Given the description of an element on the screen output the (x, y) to click on. 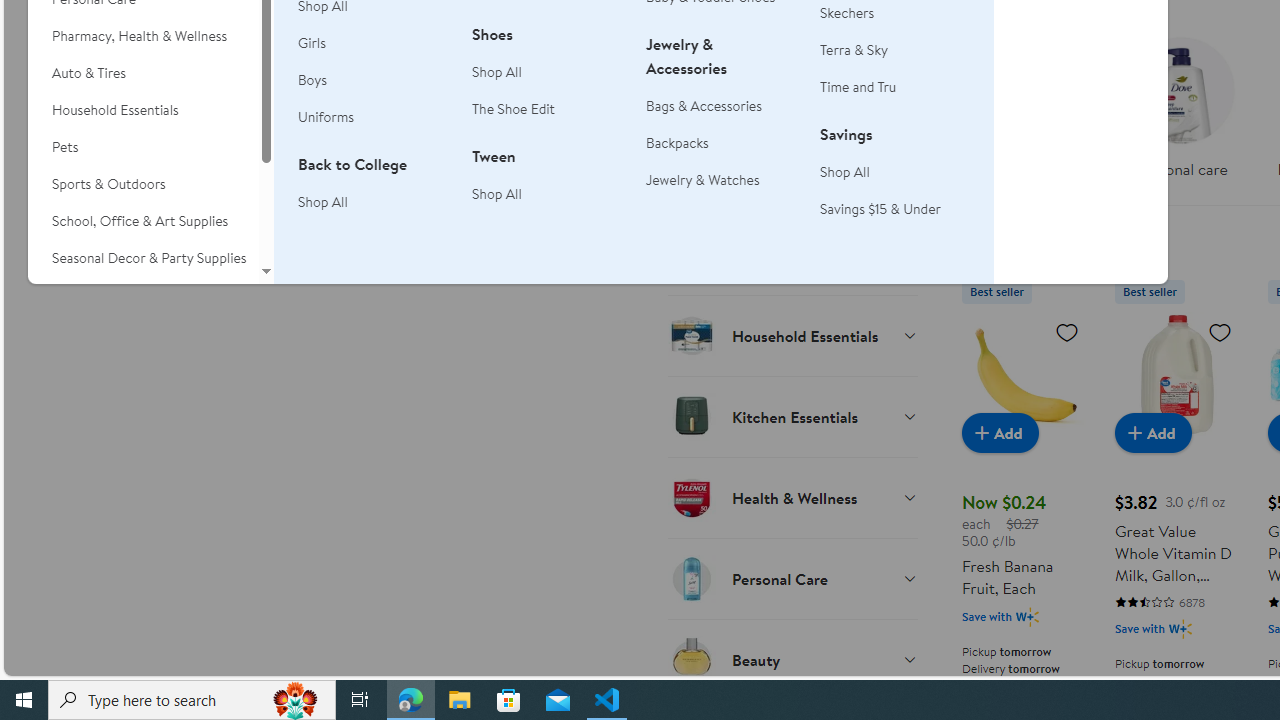
The Shoe Edit (547, 109)
Pets (143, 147)
Boys (312, 79)
Shop All (845, 172)
Uniforms (373, 117)
Personal care (1180, 101)
Add to cart - Fresh Banana Fruit, Each (1000, 431)
Alcohol (792, 173)
Sports & Outdoors (143, 184)
Skechers (895, 12)
Skechers (847, 12)
Seasonal Decor & Party Supplies (143, 258)
Pharmacy, Health & Wellness (143, 36)
Savings $15 & Under (880, 208)
Sports & Outdoors (143, 184)
